Given the description of an element on the screen output the (x, y) to click on. 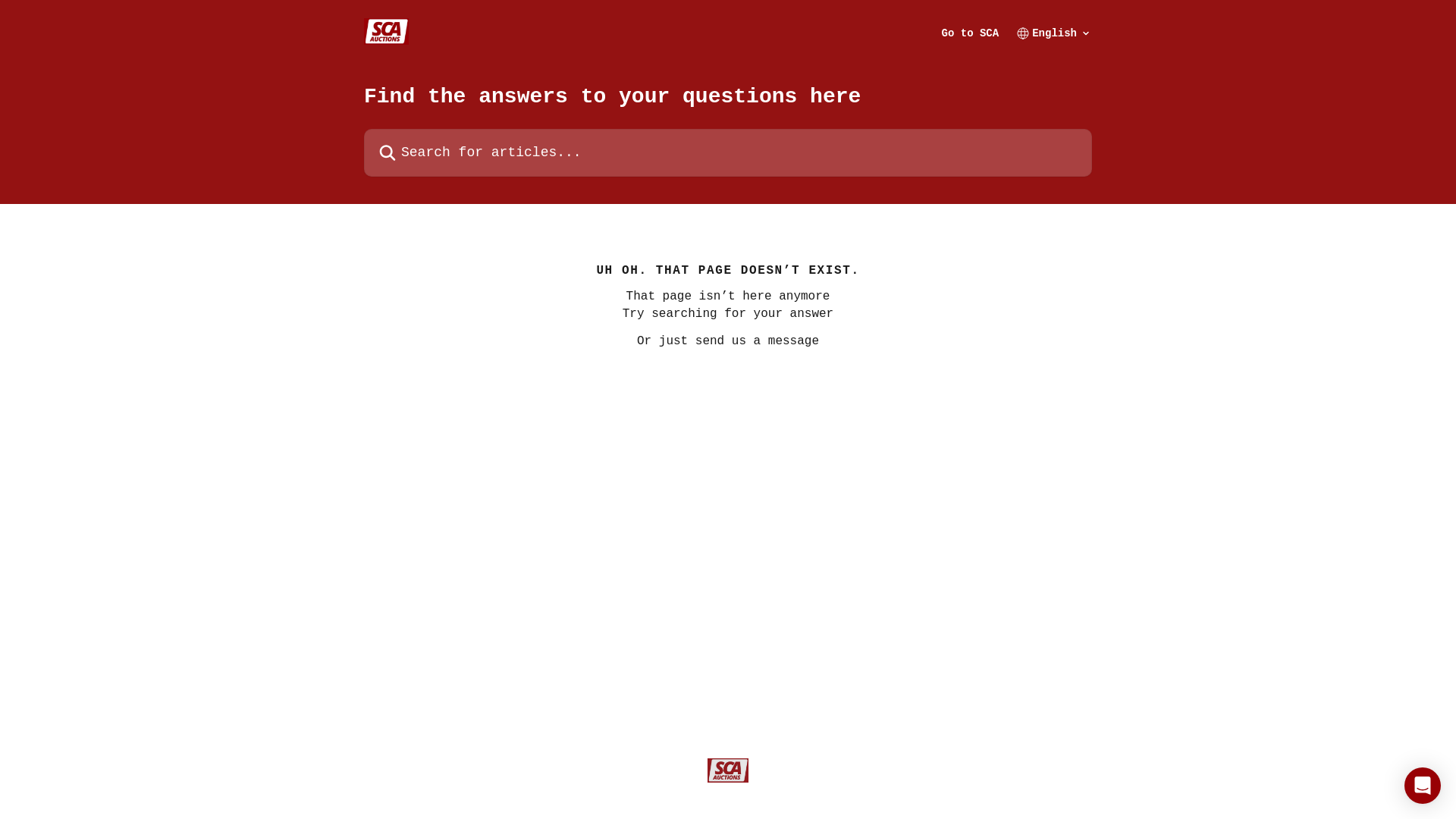
Go to SCA Element type: text (970, 32)
